Given the description of an element on the screen output the (x, y) to click on. 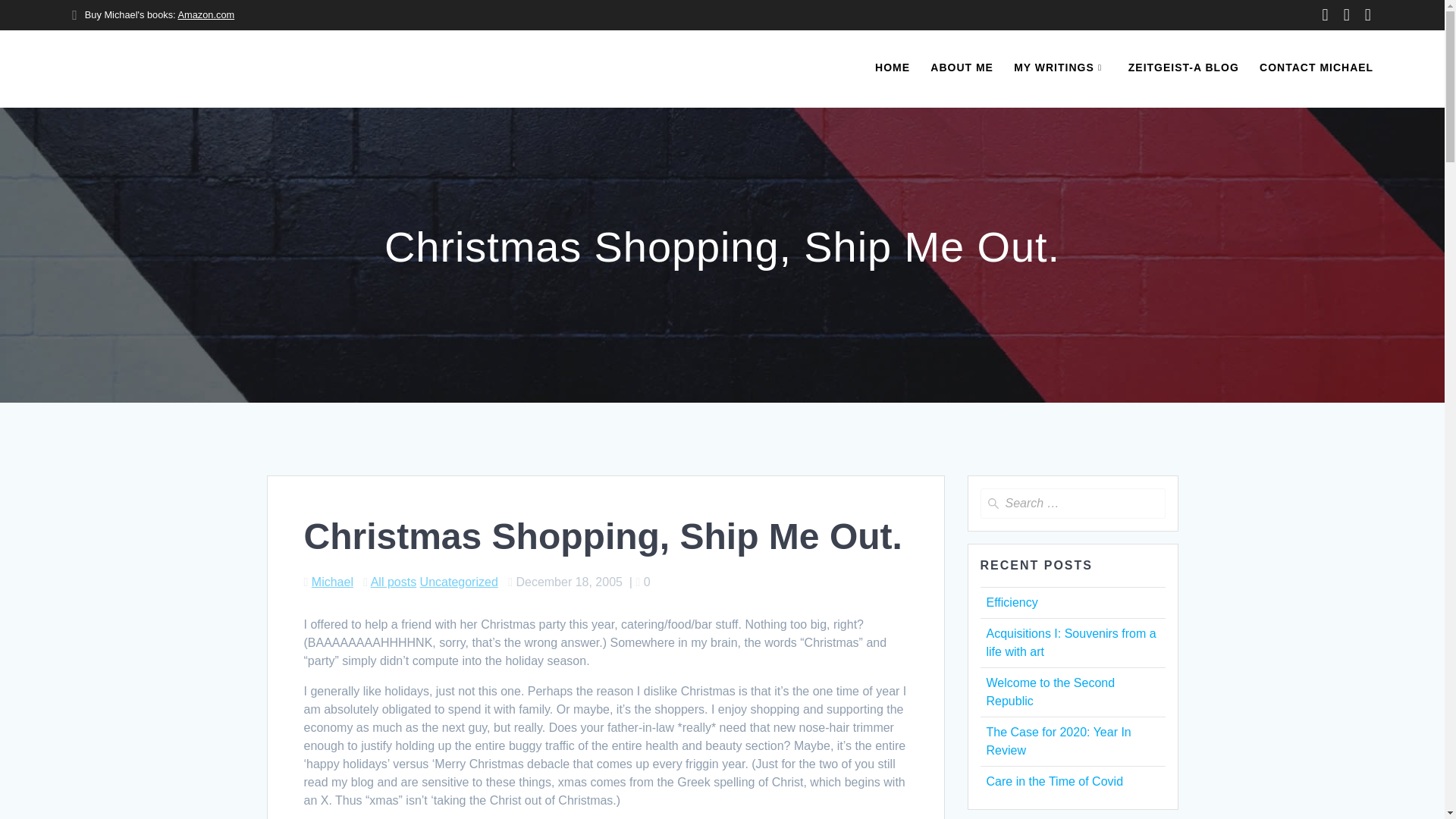
Posts by Michael (332, 581)
Home (892, 67)
ZEITGEIST-A BLOG (1183, 67)
Welcome to the Second Republic (1050, 691)
Michael (332, 581)
Care in the Time of Covid (1053, 780)
Uncategorized (458, 581)
Amazon.com (205, 14)
The Case for 2020: Year In Review (1058, 740)
Acquisitions I: Souvenirs from a life with art (1070, 642)
All posts (393, 581)
Efficiency (1010, 602)
CONTACT MICHAEL (1316, 67)
MY WRITINGS (1059, 67)
ABOUT ME (961, 67)
